Given the description of an element on the screen output the (x, y) to click on. 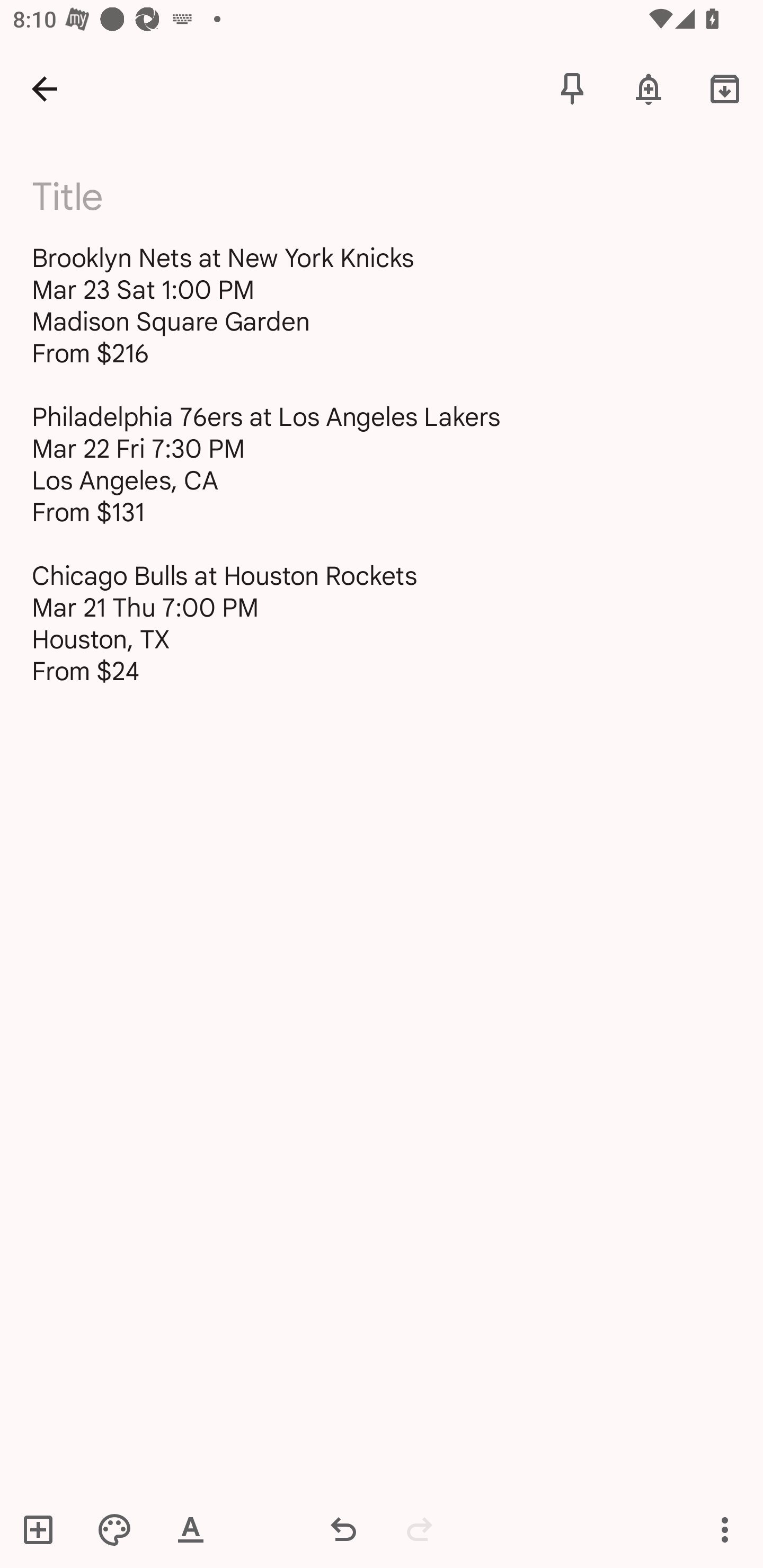
Navigate up (44, 88)
Pin (572, 88)
Reminder (648, 88)
Archive (724, 88)
New list (44, 1529)
Theme (114, 1529)
Show formatting controls (190, 1529)
Undo (343, 1529)
Redo (419, 1529)
Action (724, 1529)
